Given the description of an element on the screen output the (x, y) to click on. 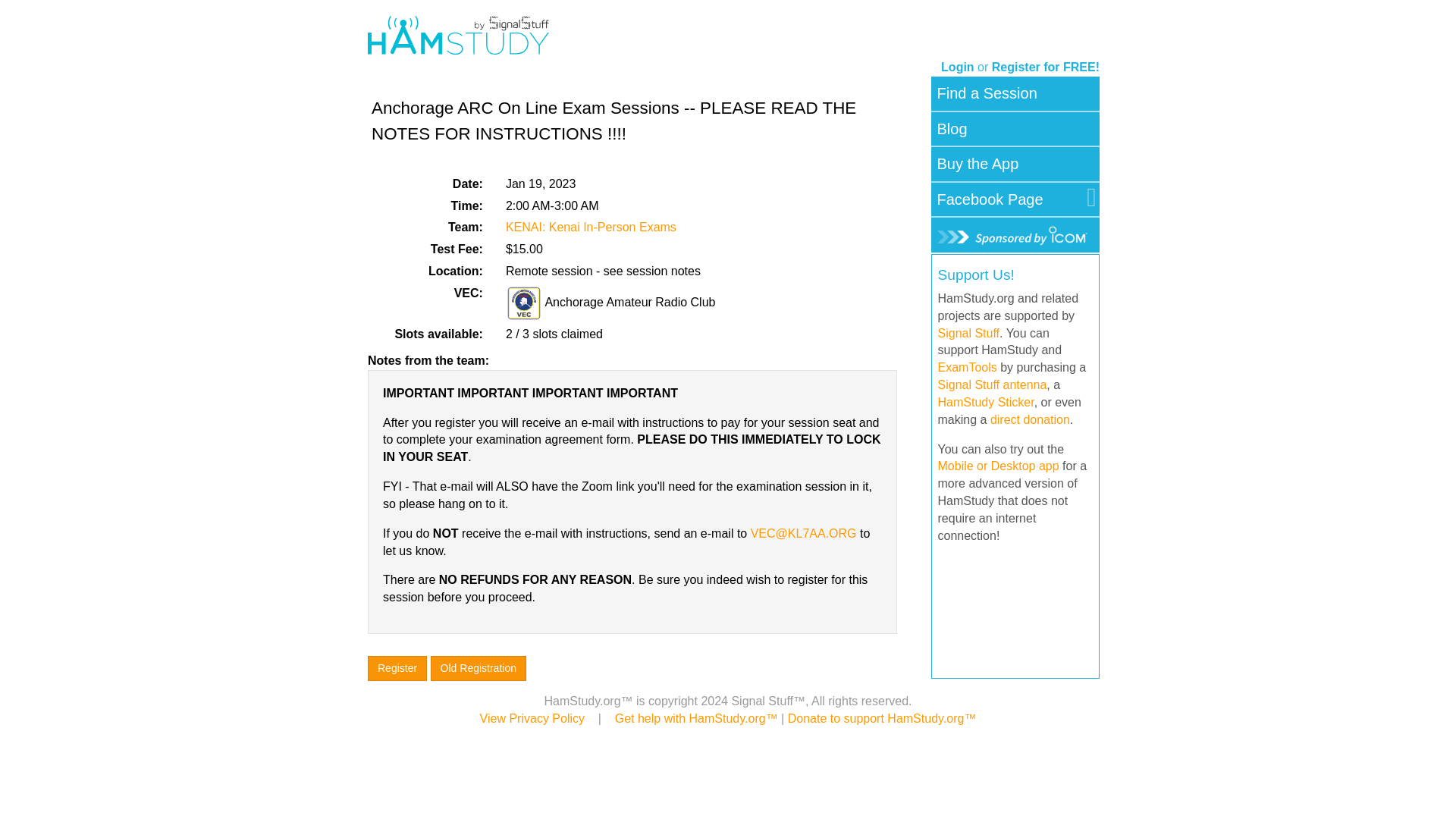
Find a Session (987, 93)
Mobile or Desktop app (997, 465)
Facebook Page (990, 199)
Register for FREE! (1045, 66)
Old Registration (477, 668)
View Privacy Policy (532, 717)
direct donation (1030, 419)
Register (397, 668)
Signal Stuff (967, 332)
KENAI: Kenai In-Person Exams (591, 226)
Buy the App (978, 163)
Login (957, 66)
Blog (952, 129)
HamStudy Sticker (985, 401)
Signal Stuff antenna (991, 384)
